Given the description of an element on the screen output the (x, y) to click on. 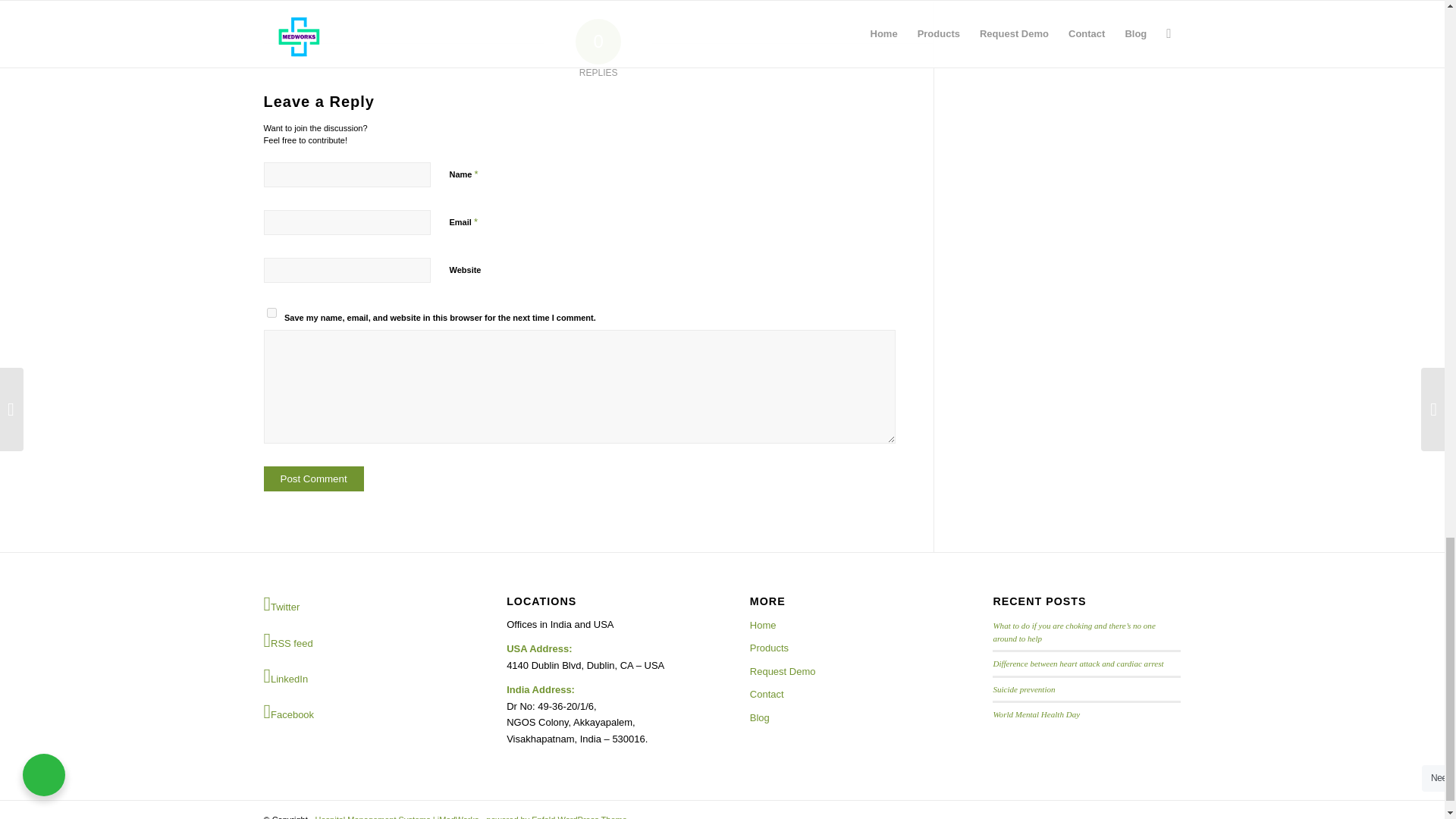
RSS feed (357, 640)
Home (843, 625)
yes (271, 312)
Request Demo (843, 671)
Contact (843, 694)
Blog (843, 717)
Twitter (357, 604)
Post Comment (313, 478)
Facebook (357, 711)
Post Comment (313, 478)
